Given the description of an element on the screen output the (x, y) to click on. 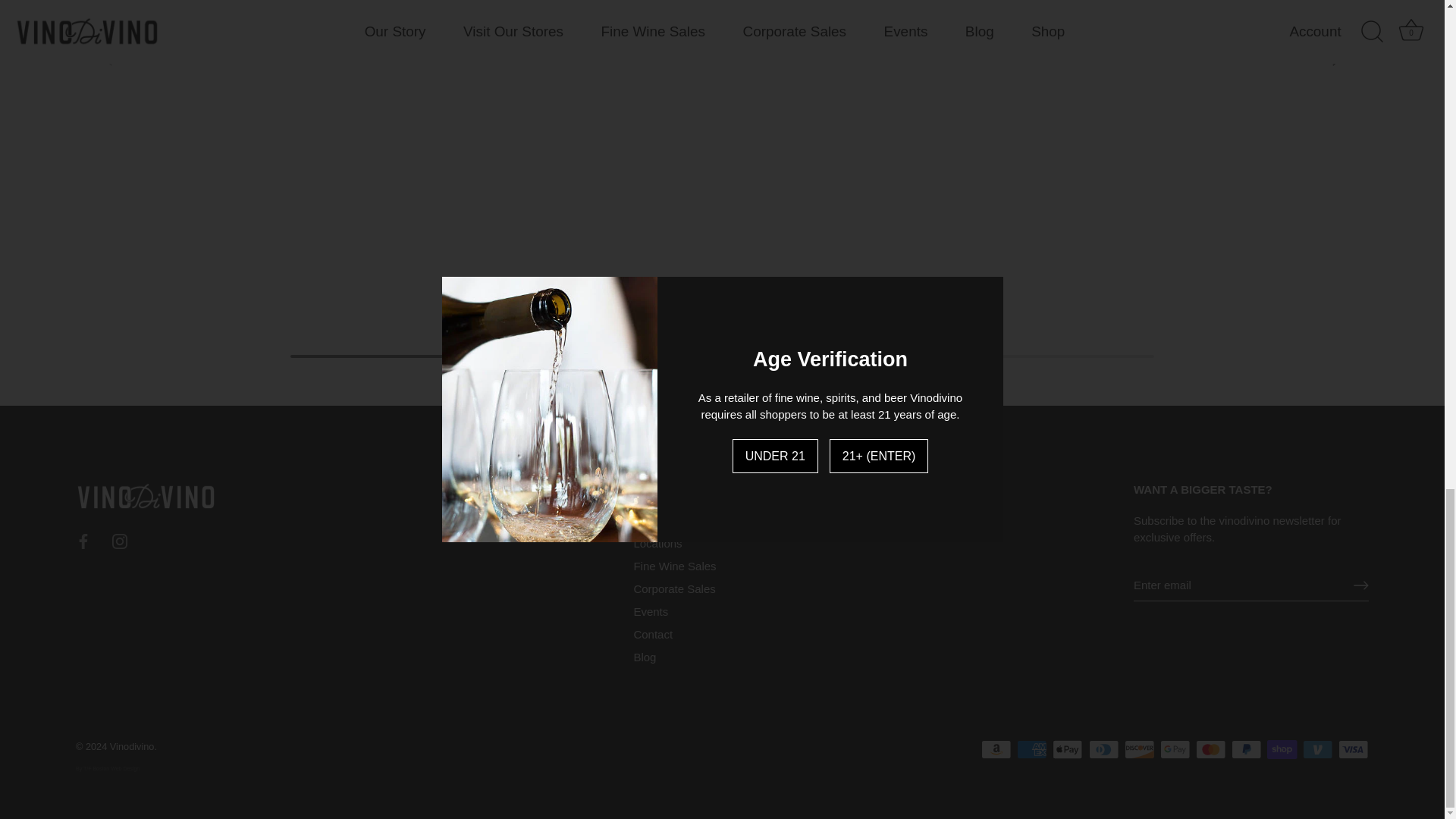
Mastercard (1210, 749)
Google Pay (1174, 749)
Apple Pay (1067, 749)
Discover (1139, 749)
RIGHT ARROW LONG (1361, 585)
Venmo (1317, 749)
Amazon (996, 749)
Instagram (120, 540)
PayPal (1245, 749)
American Express (1031, 749)
Diners Club (1104, 749)
Shop Pay (1281, 749)
